Given the description of an element on the screen output the (x, y) to click on. 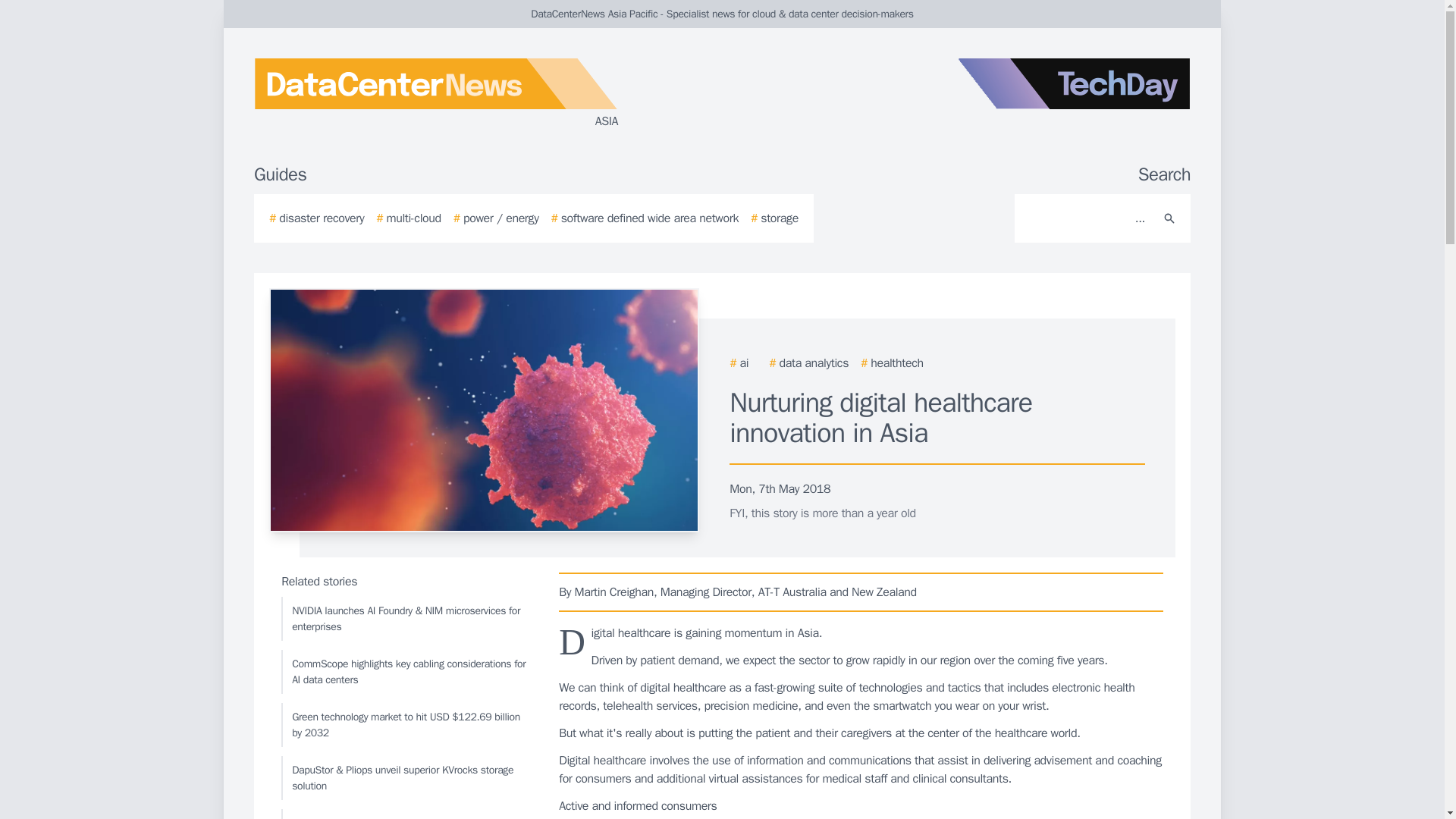
Juniper Networks unveils Ops4AI lab to boost AI workloads (406, 814)
ASIA (435, 94)
